Given the description of an element on the screen output the (x, y) to click on. 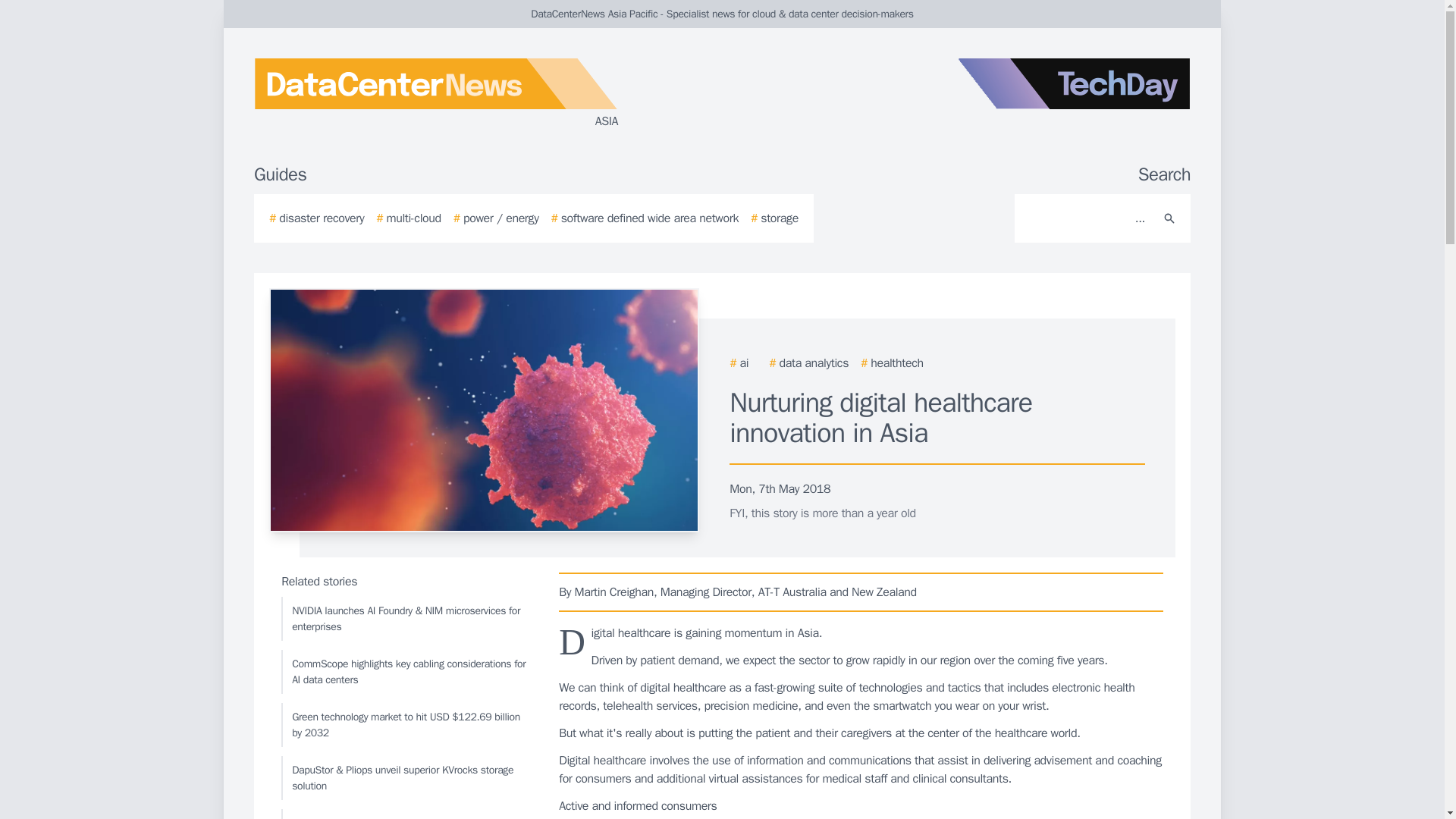
Juniper Networks unveils Ops4AI lab to boost AI workloads (406, 814)
ASIA (435, 94)
